Given the description of an element on the screen output the (x, y) to click on. 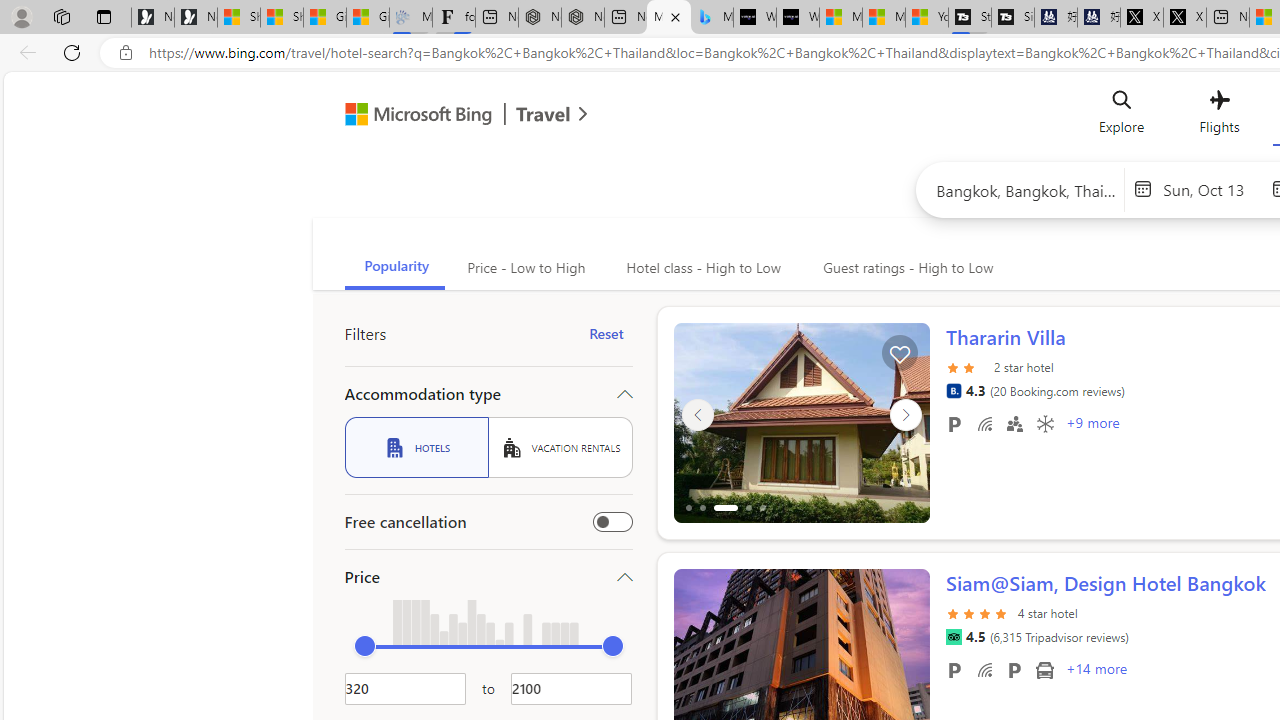
max  (612, 645)
Microsoft Bing (410, 116)
min  (364, 645)
Accommodation type (488, 393)
Hotel class - High to Low (701, 268)
+9 More Amenities (1092, 425)
HOTELS (416, 447)
Class: msft-travel-logo (543, 114)
Reset (606, 333)
